Given the description of an element on the screen output the (x, y) to click on. 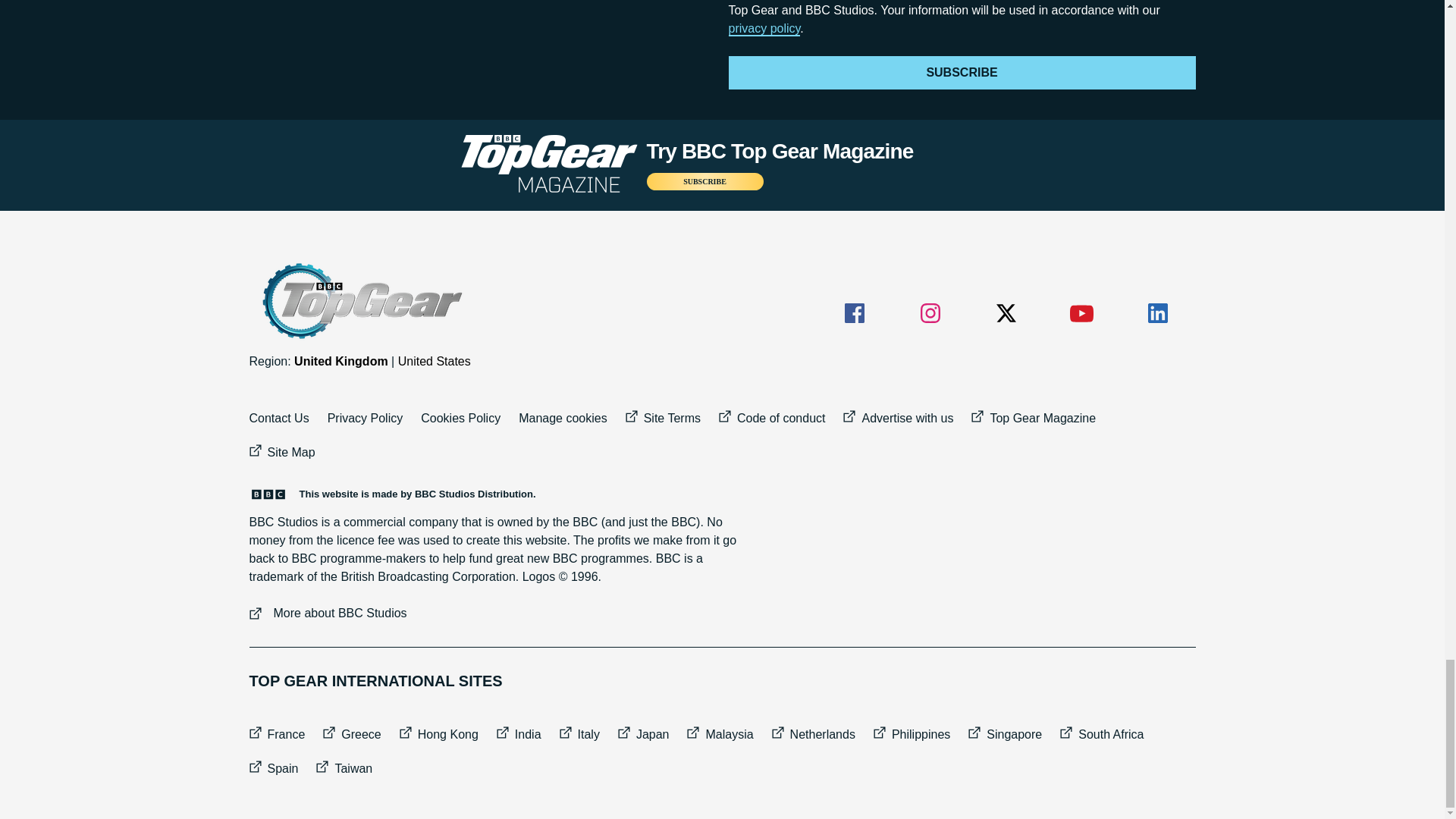
Home (359, 301)
